Given the description of an element on the screen output the (x, y) to click on. 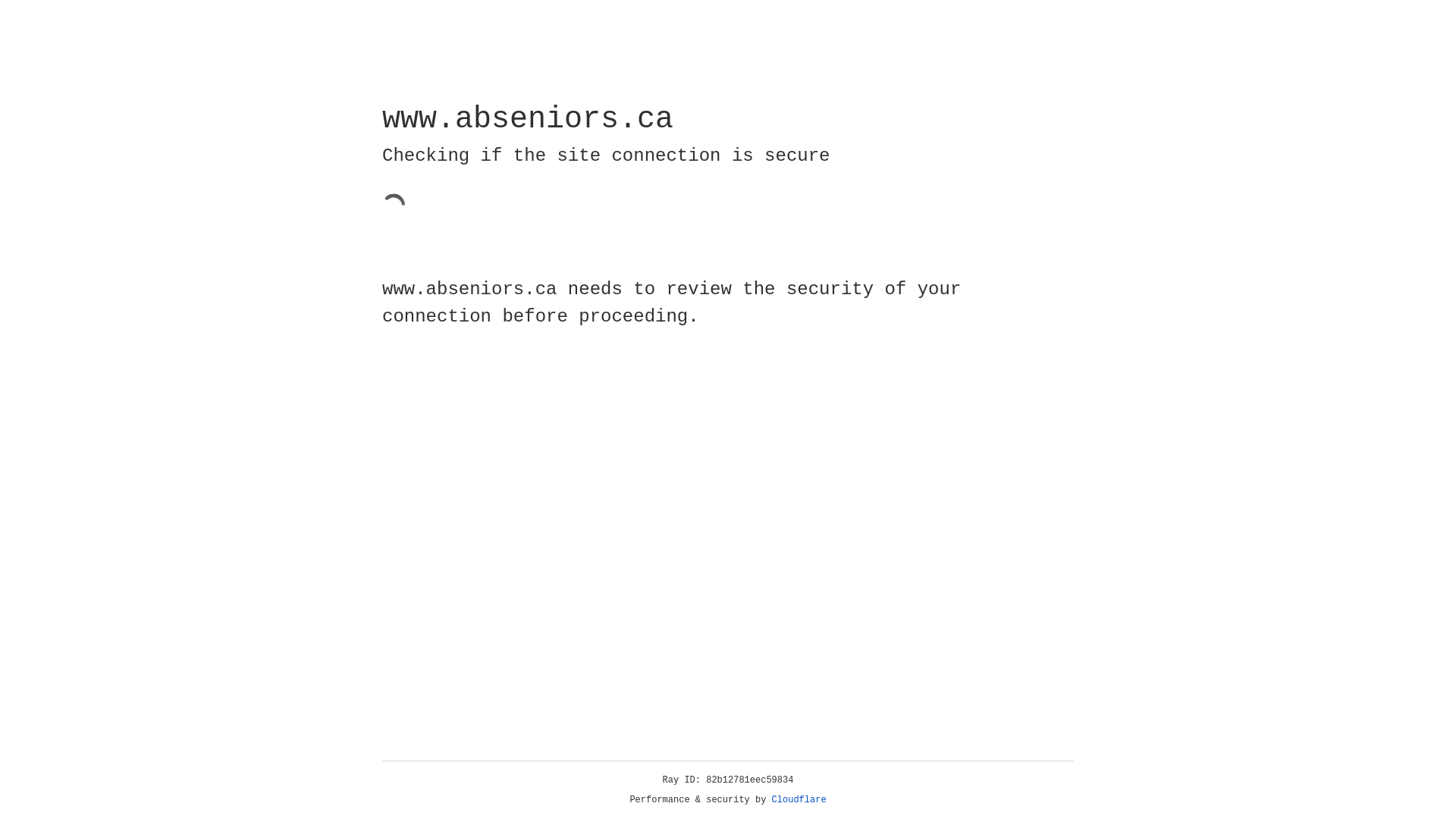
Cloudflare Element type: text (798, 799)
